Given the description of an element on the screen output the (x, y) to click on. 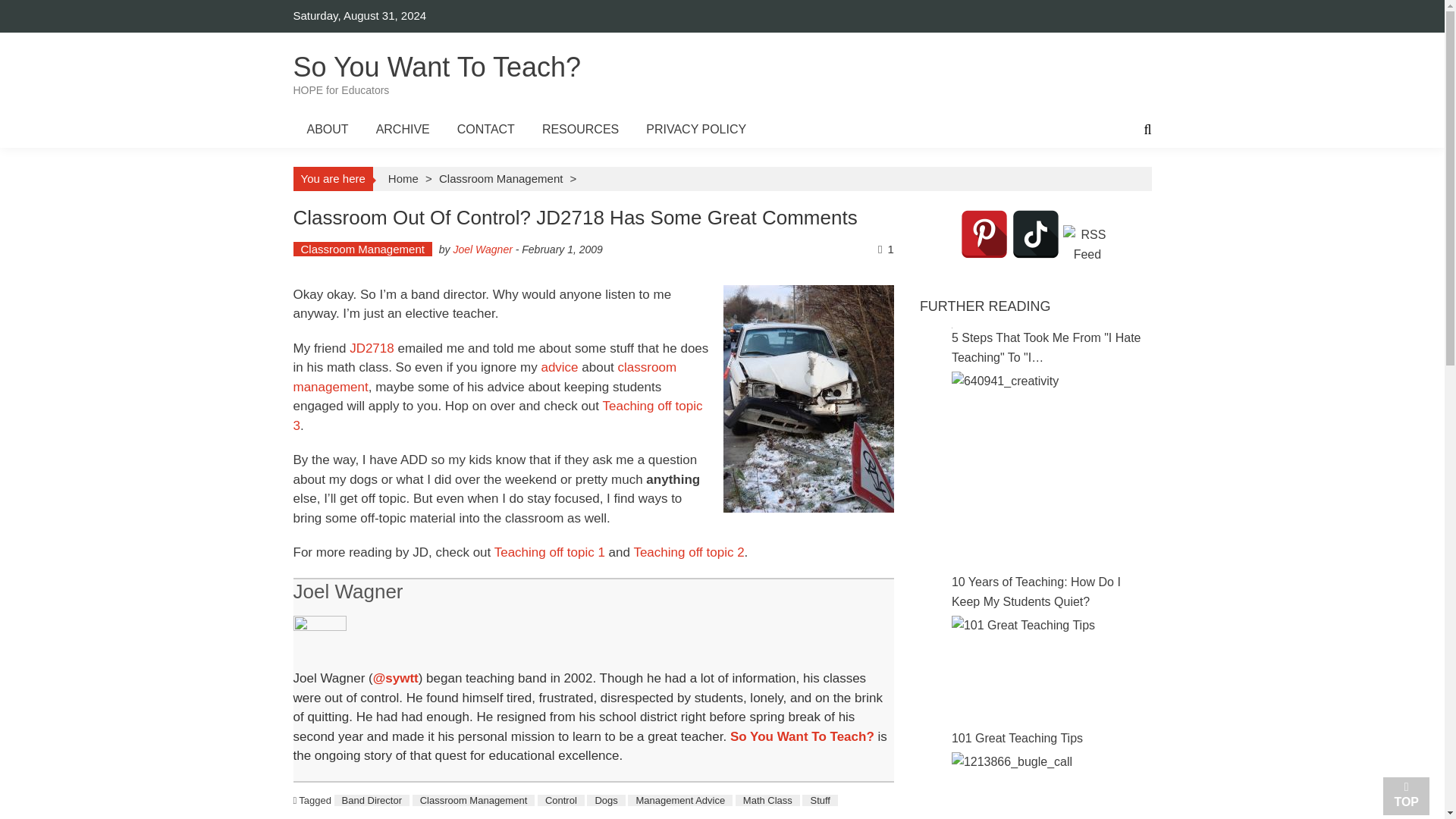
Teaching off topic 3 (496, 415)
advice (559, 367)
PRIVACY POLICY (695, 128)
TikTok (1035, 233)
ABOUT (326, 128)
classroom management (436, 75)
JD2718 (484, 376)
Pinterest (371, 348)
101 Great Teaching Tips (984, 233)
